Given the description of an element on the screen output the (x, y) to click on. 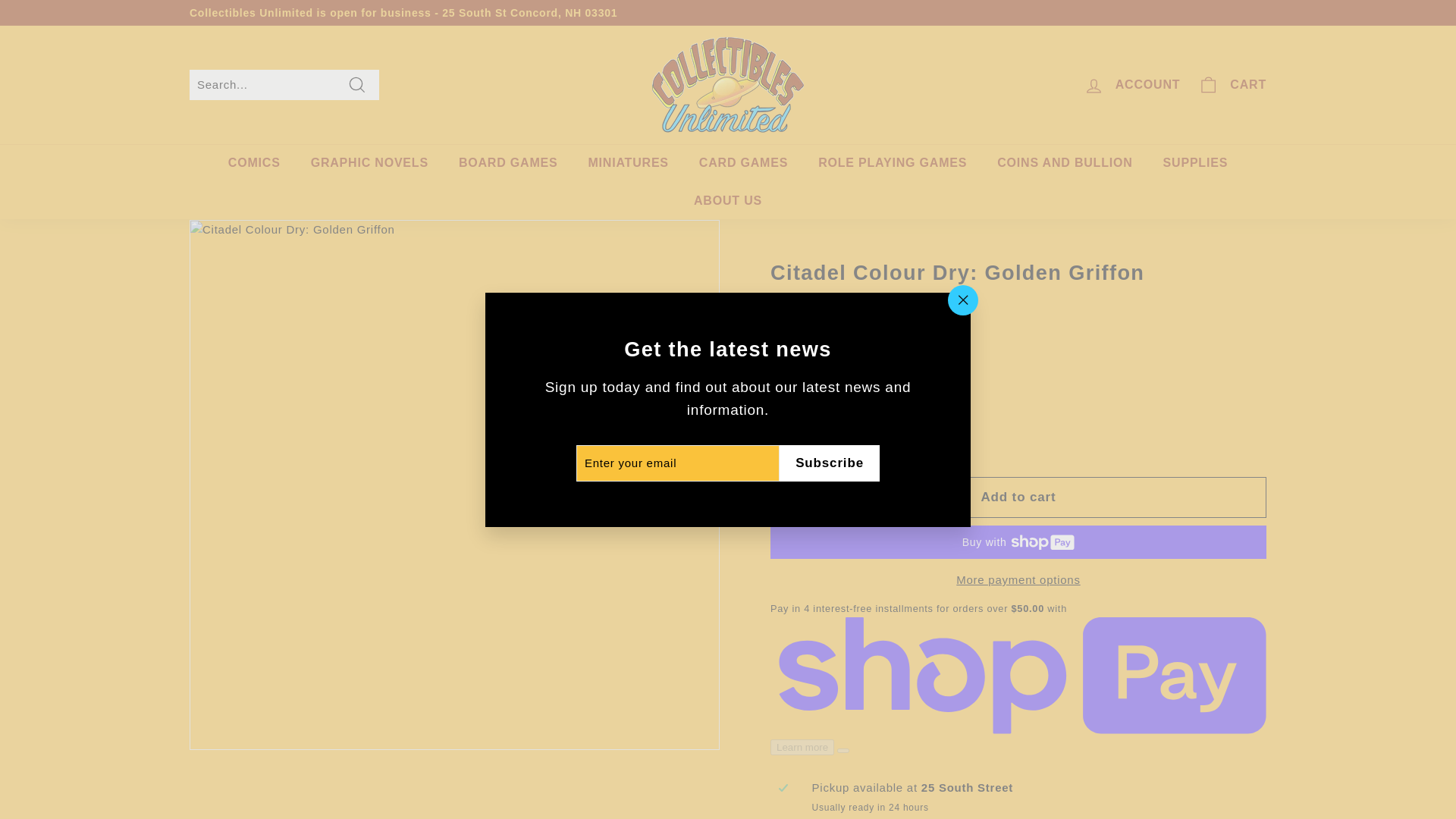
MINIATURES (627, 162)
ACCOUNT (1131, 84)
COMICS (253, 162)
GRAPHIC NOVELS (369, 162)
BOARD GAMES (508, 162)
